Given the description of an element on the screen output the (x, y) to click on. 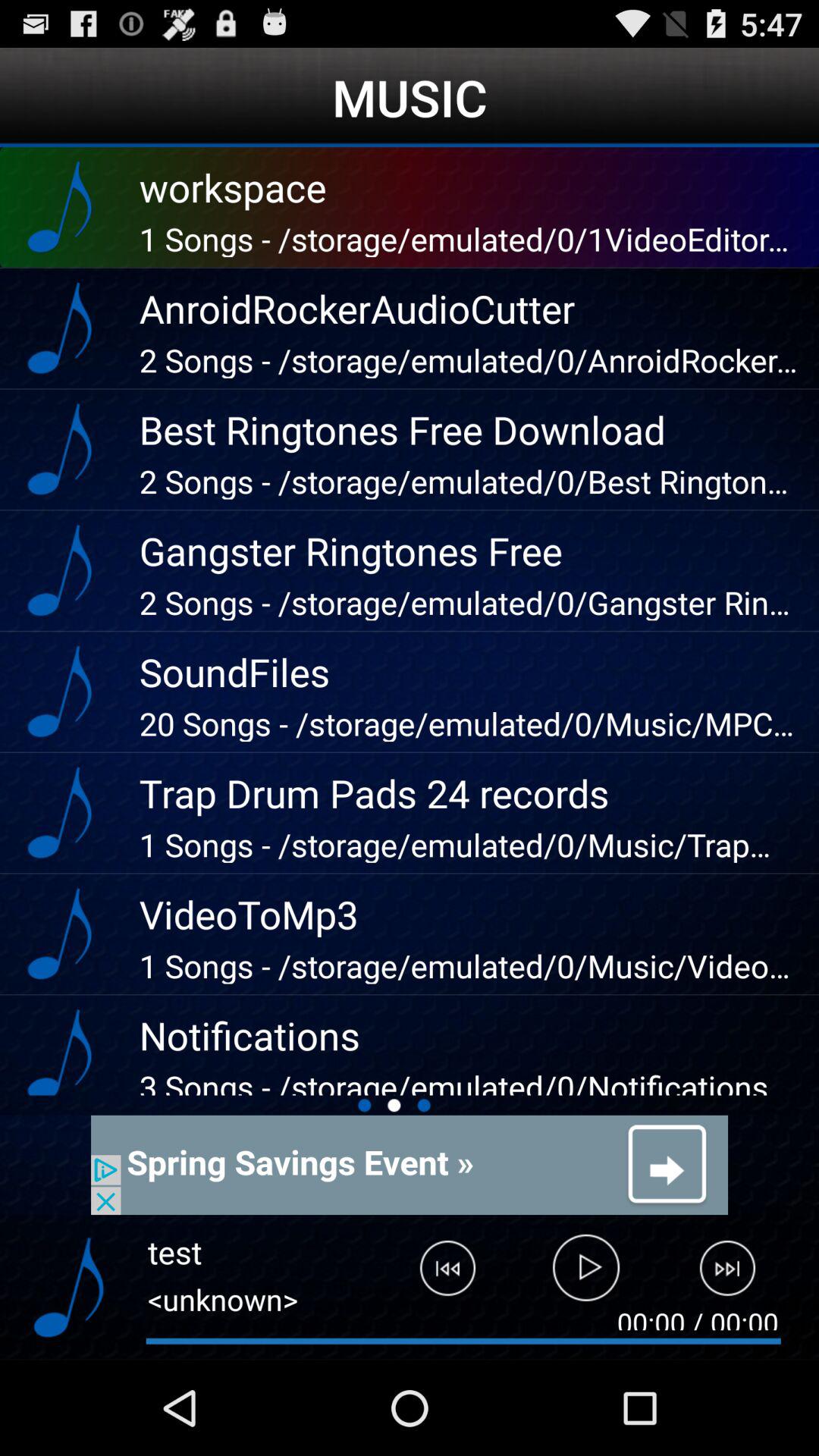
play last track (436, 1274)
